Given the description of an element on the screen output the (x, y) to click on. 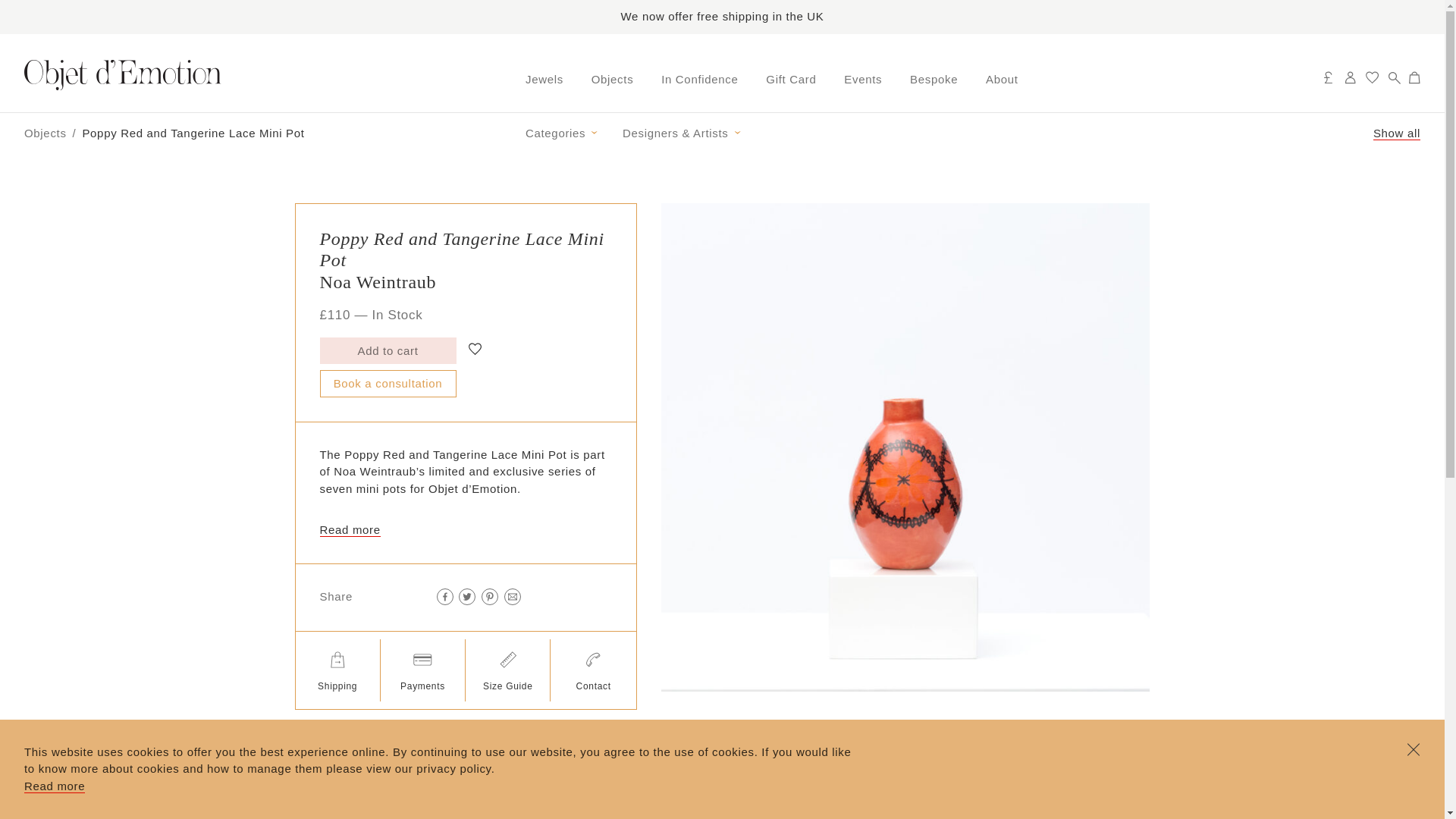
Events (863, 79)
Read more (54, 786)
Objet d'Emotion Logo (122, 74)
About (1001, 79)
Facebook Logo (445, 596)
Twitter Logo (467, 596)
Pinterest Logo (489, 596)
Jewels (544, 79)
